Given the description of an element on the screen output the (x, y) to click on. 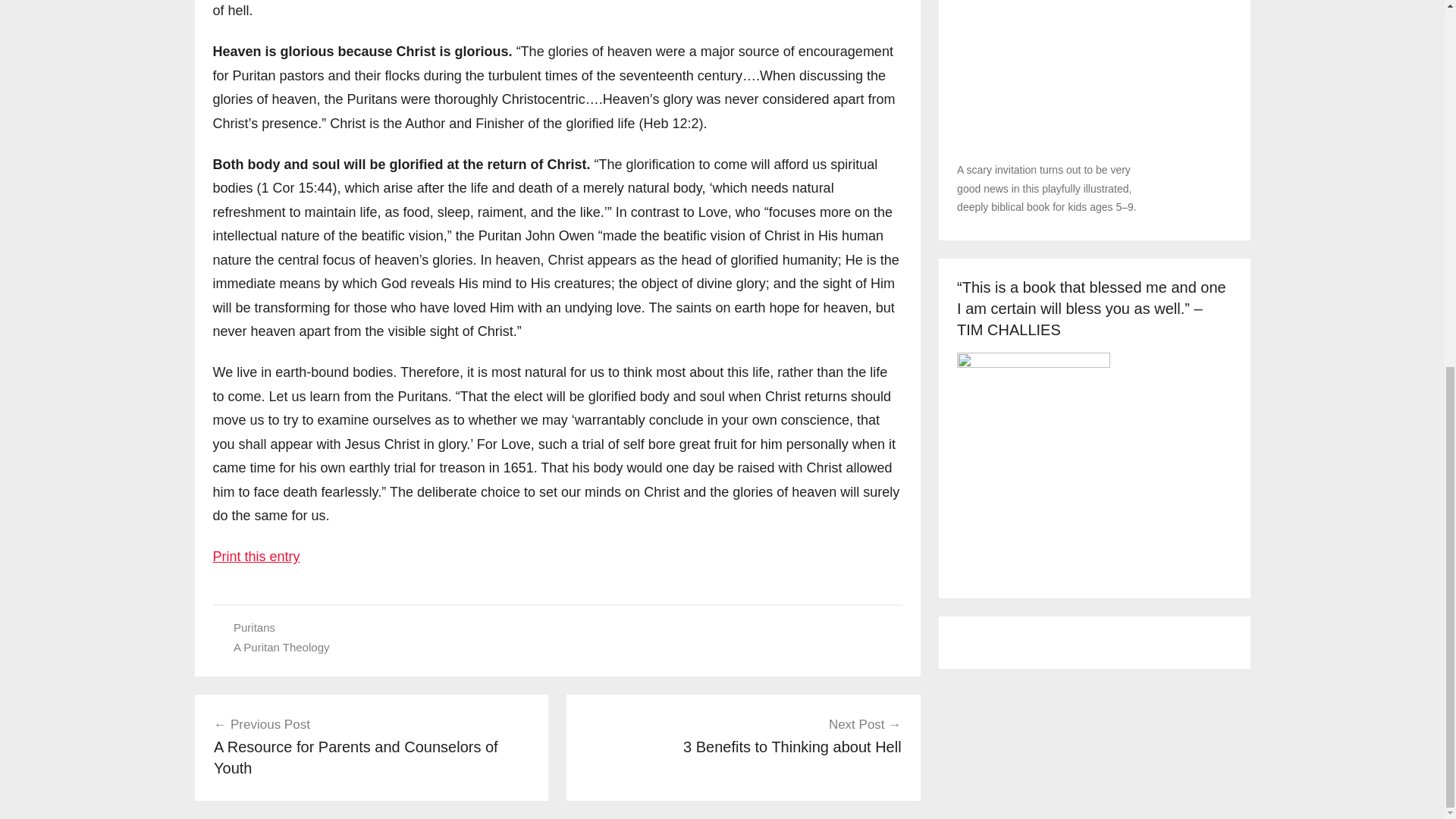
A Puritan Theology (743, 735)
Puritans (280, 646)
Print this entry (253, 626)
